Given the description of an element on the screen output the (x, y) to click on. 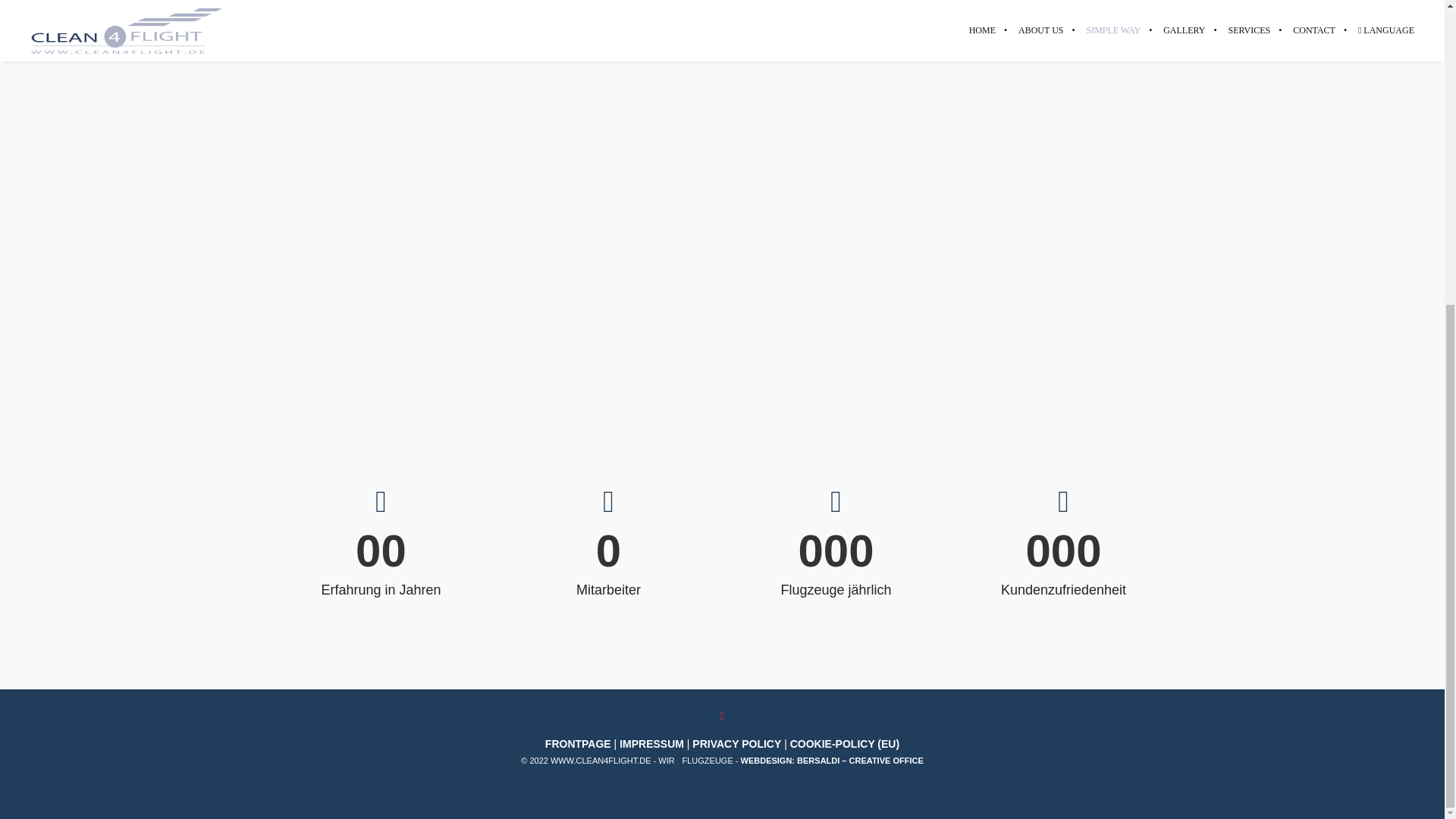
Impressum (652, 743)
Privacy Policy (736, 743)
IMPRESSUM (652, 743)
PRIVACY POLICY (736, 743)
FRONTPAGE (577, 743)
Front Page (577, 743)
